Given the description of an element on the screen output the (x, y) to click on. 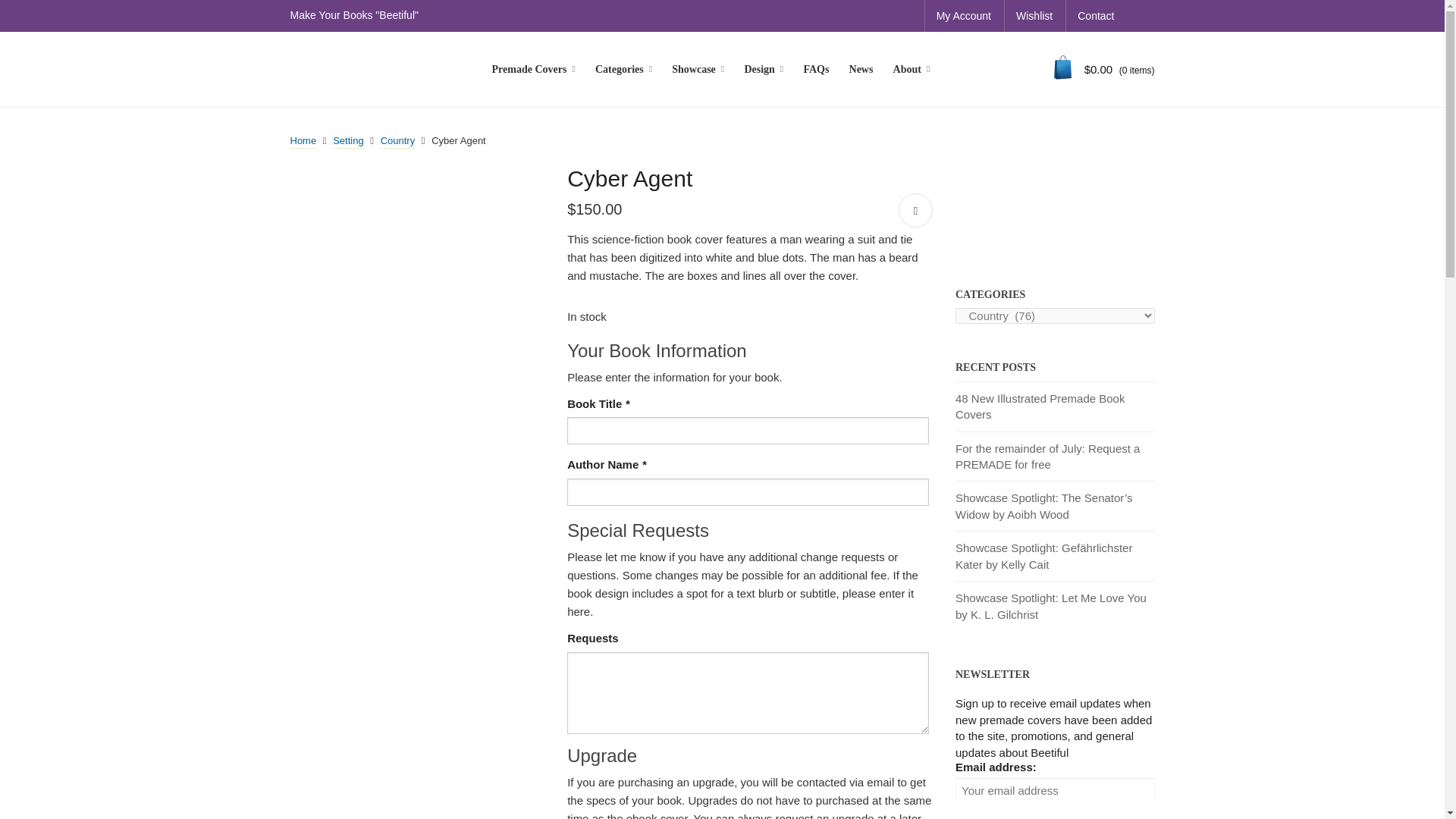
View your shopping cart (1104, 70)
Contact (1095, 15)
Wishlist (1034, 15)
My Account (963, 15)
Sign up (975, 808)
My Account (963, 15)
Contact (1095, 15)
Wishlist (1034, 15)
Premade Covers (533, 69)
